Given the description of an element on the screen output the (x, y) to click on. 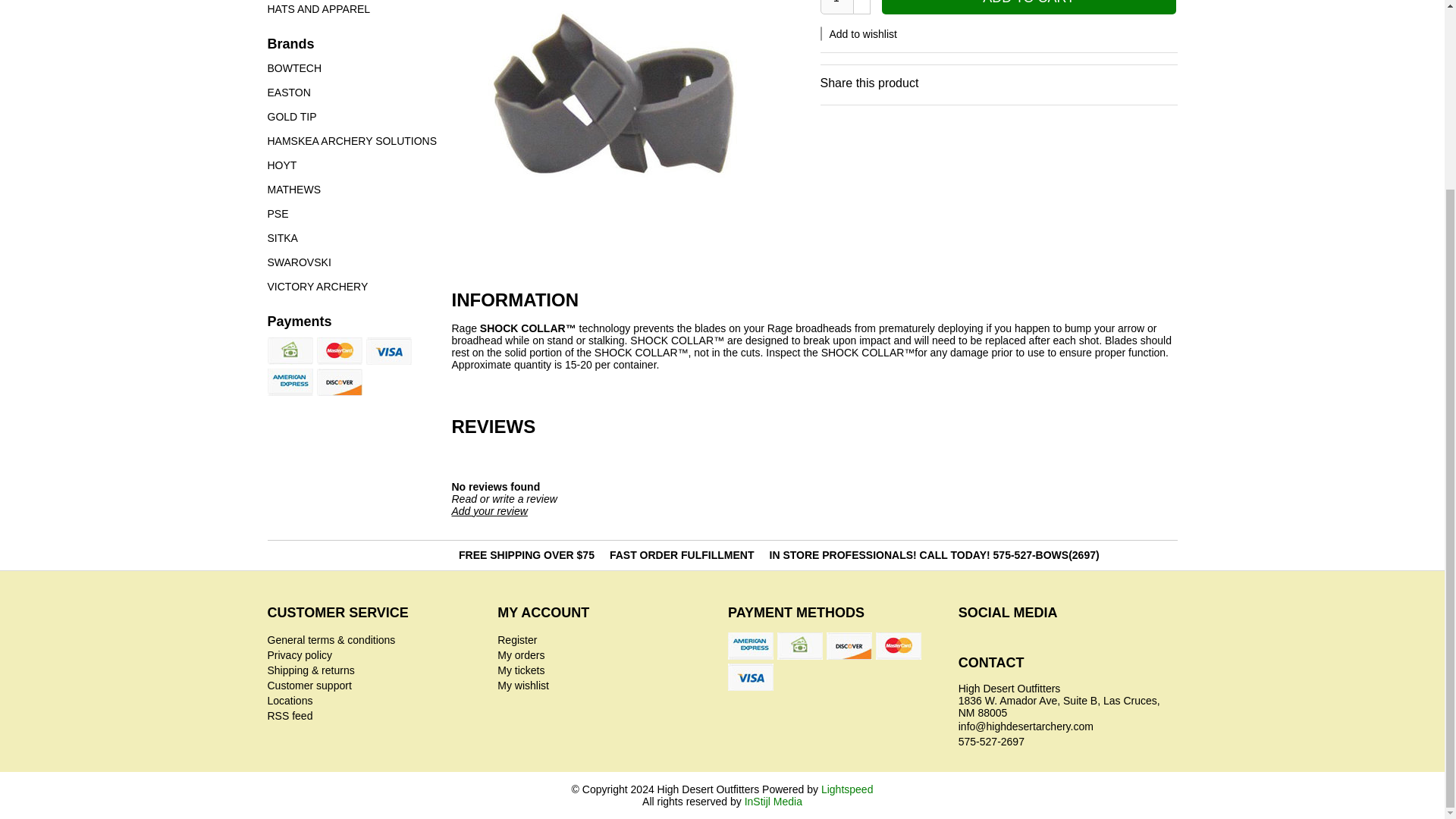
1 (837, 7)
